Given the description of an element on the screen output the (x, y) to click on. 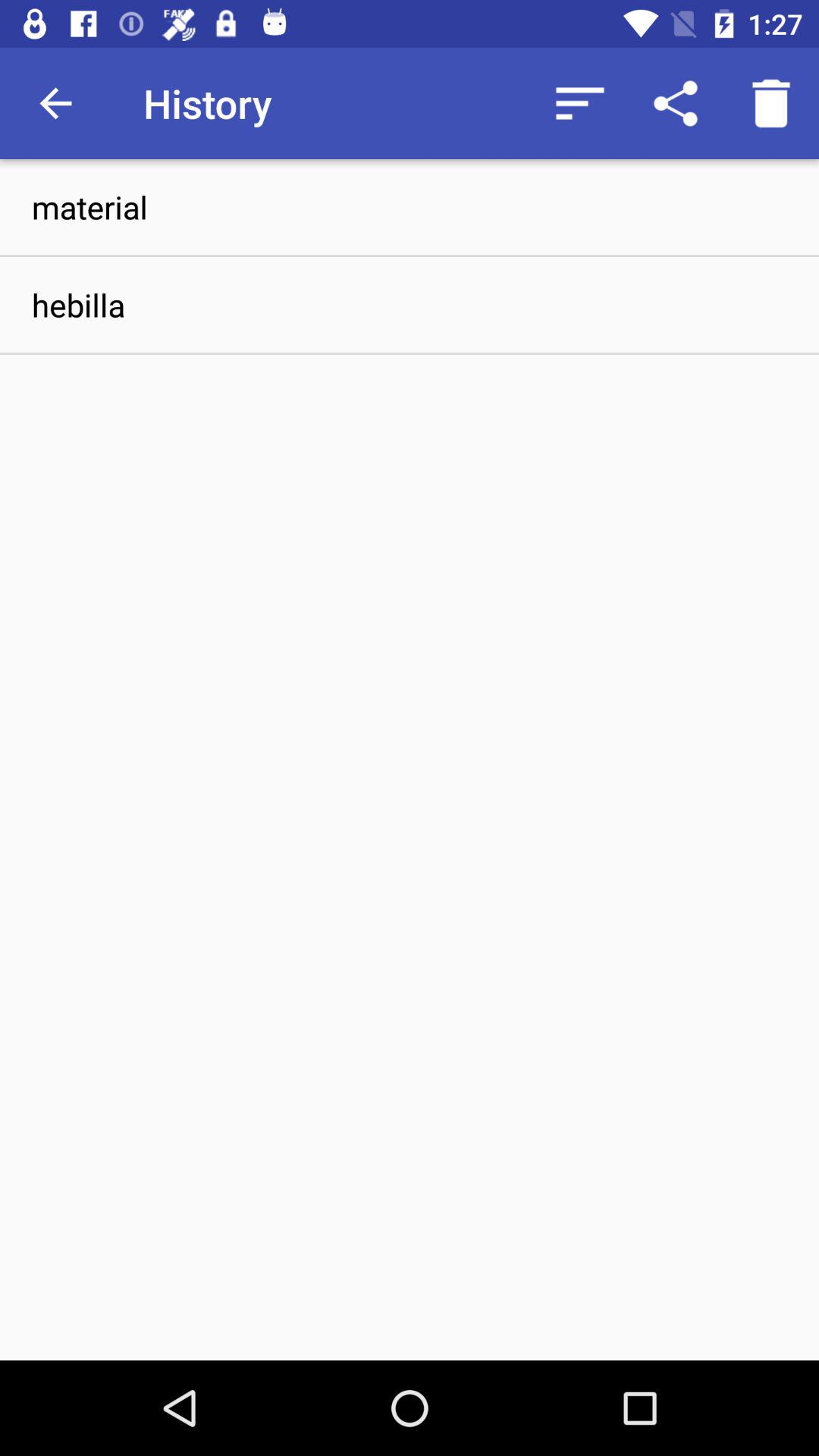
tap the icon above material item (675, 103)
